Given the description of an element on the screen output the (x, y) to click on. 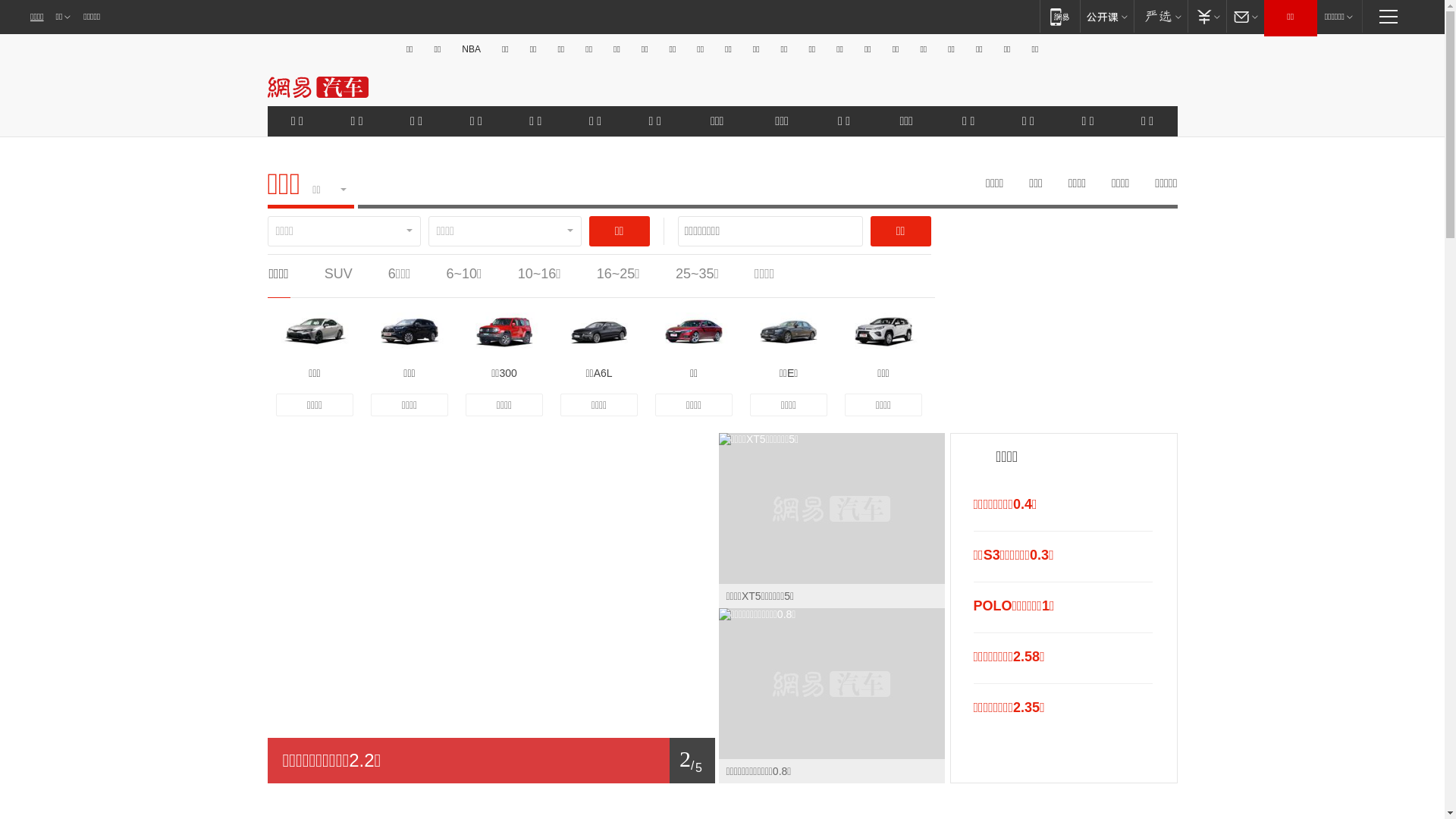
1/ 5 Element type: text (490, 760)
SUV Element type: text (338, 273)
NBA Element type: text (471, 48)
